Given the description of an element on the screen output the (x, y) to click on. 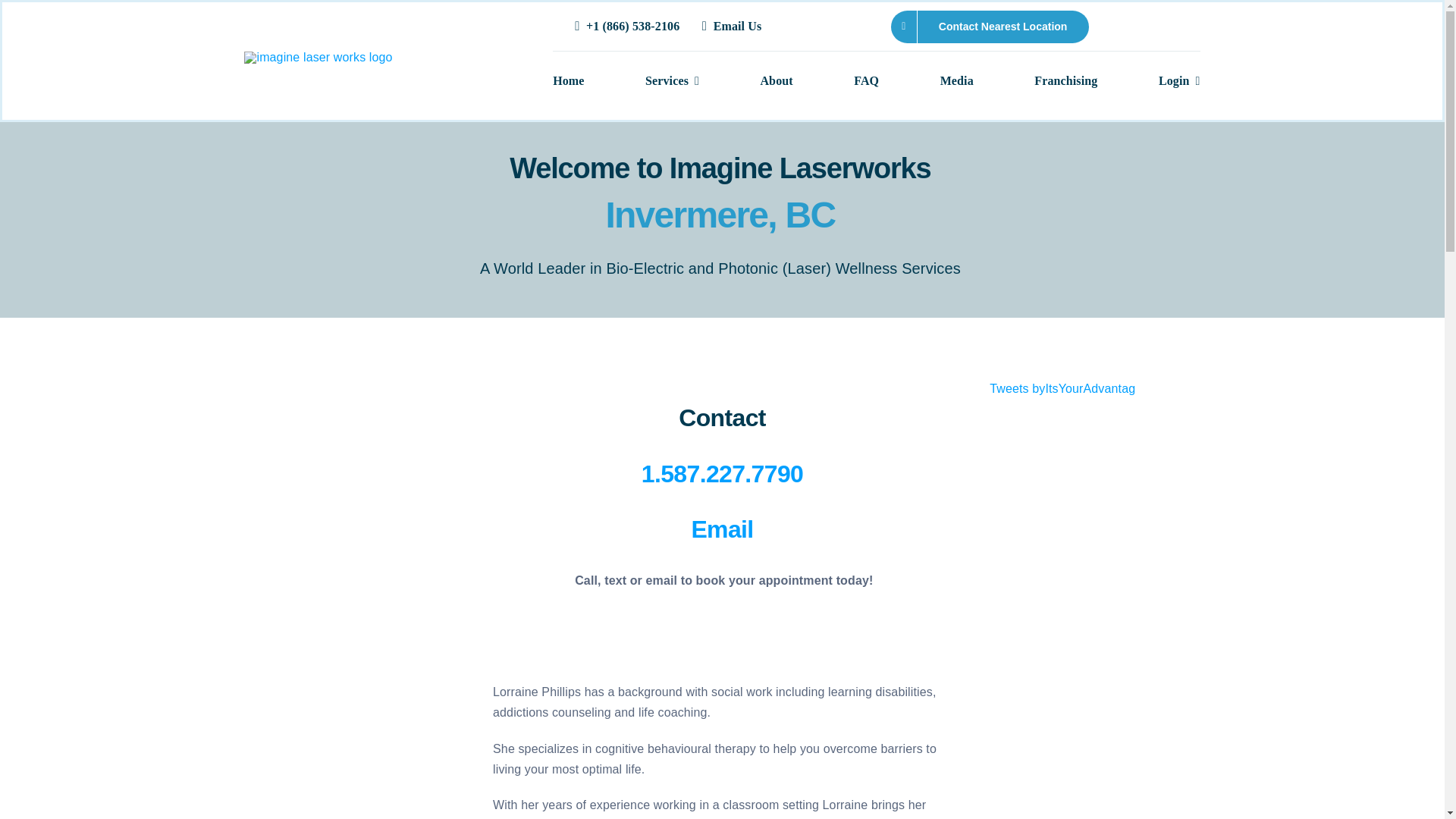
Services (671, 81)
Email Us (734, 26)
Media (957, 81)
Franchising (1065, 81)
Login (1178, 81)
About (776, 81)
Contact Nearest Location (990, 26)
